Given the description of an element on the screen output the (x, y) to click on. 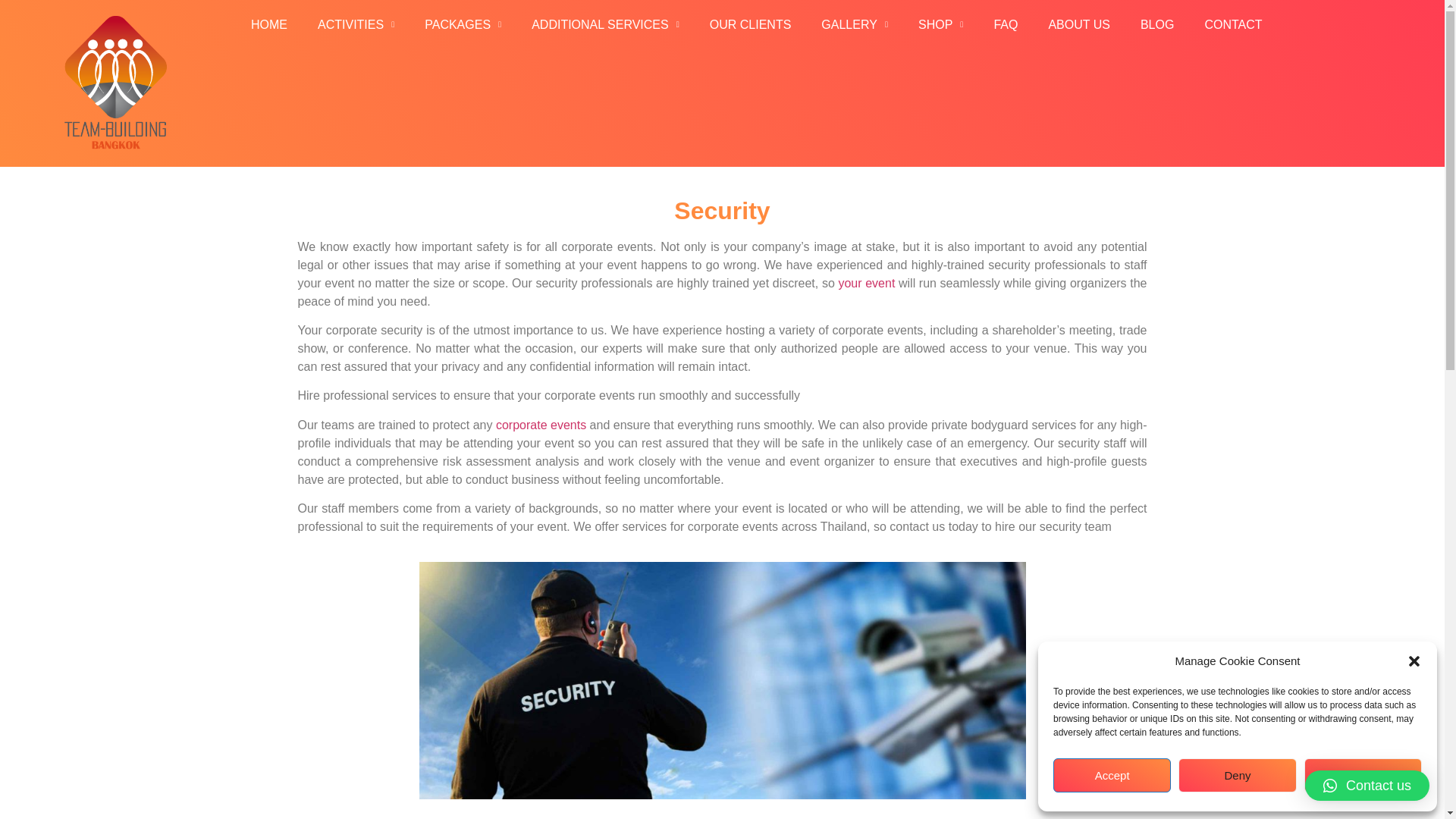
ACTIVITIES (355, 24)
HOME (268, 24)
View preferences (1363, 775)
Deny (1236, 775)
Accept (1111, 775)
